Given the description of an element on the screen output the (x, y) to click on. 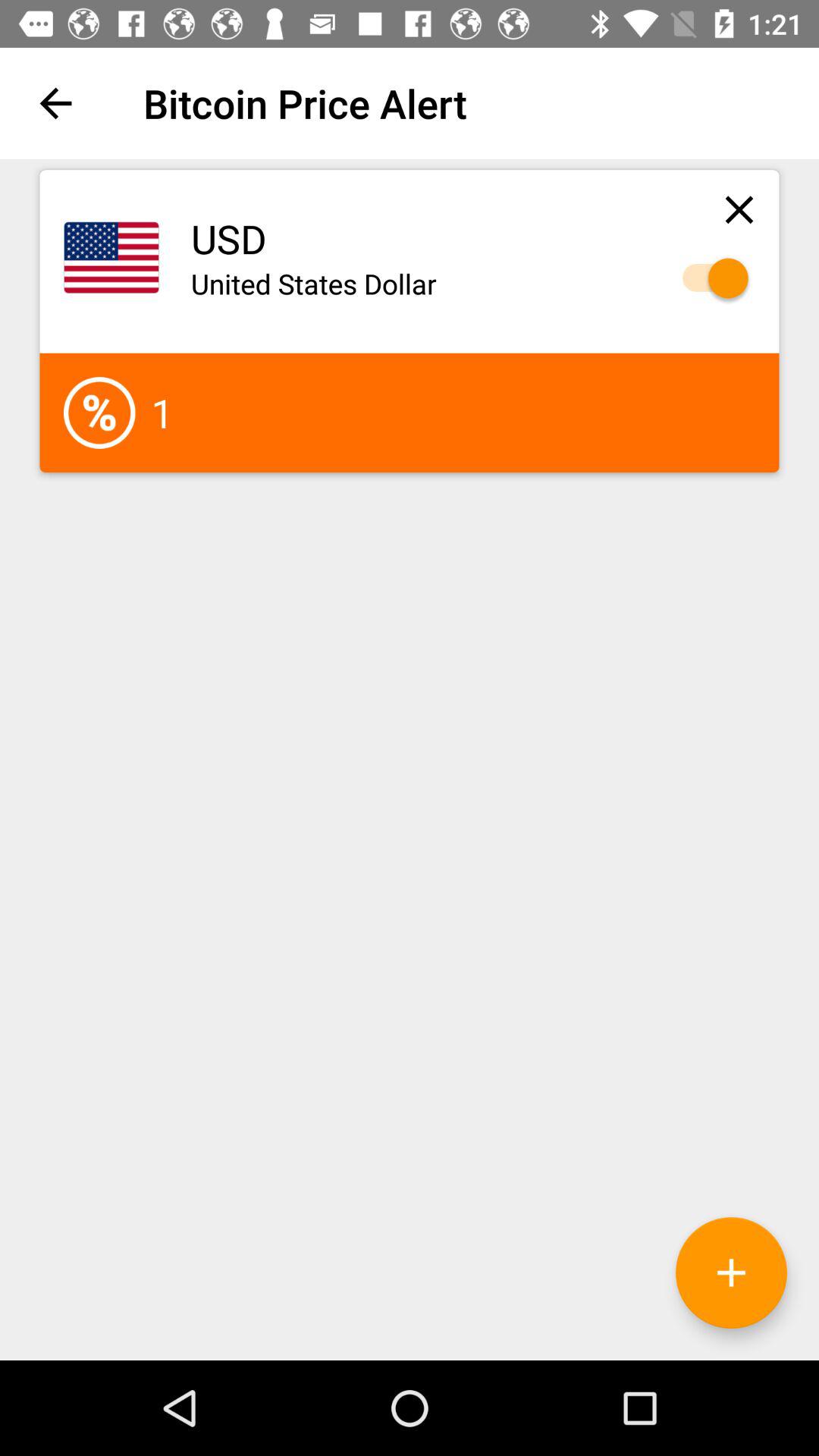
delete selected currency (739, 209)
